Given the description of an element on the screen output the (x, y) to click on. 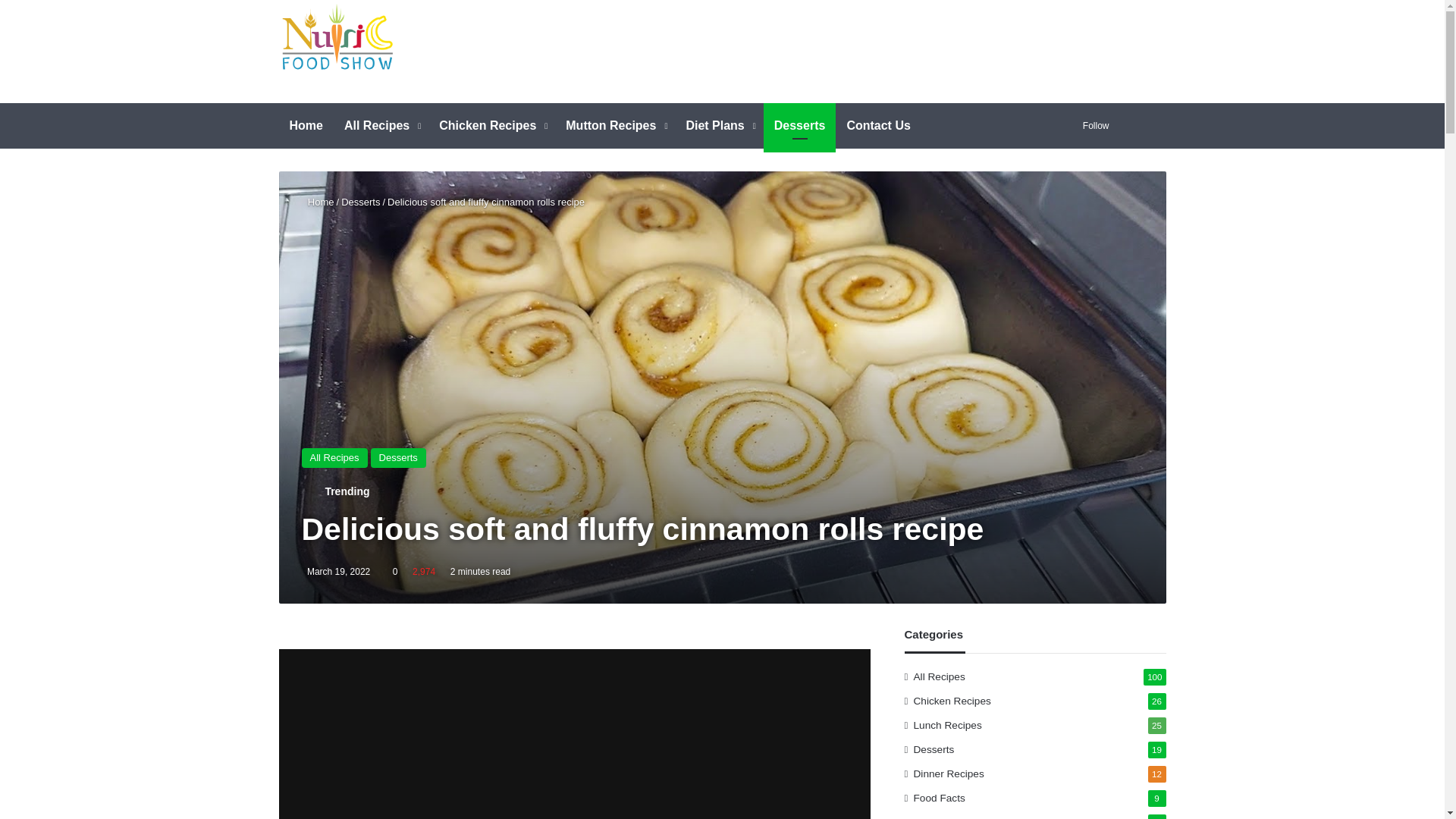
Desserts (798, 125)
Home (317, 202)
Diet Plans (718, 125)
All Recipes (380, 125)
Desserts (360, 202)
Home (306, 125)
Mutton Recipes (614, 125)
Desserts (398, 457)
Nutric Food Show (336, 38)
Follow (1092, 125)
Contact Us (877, 125)
All Recipes (334, 457)
Chicken Recipes (491, 125)
